Given the description of an element on the screen output the (x, y) to click on. 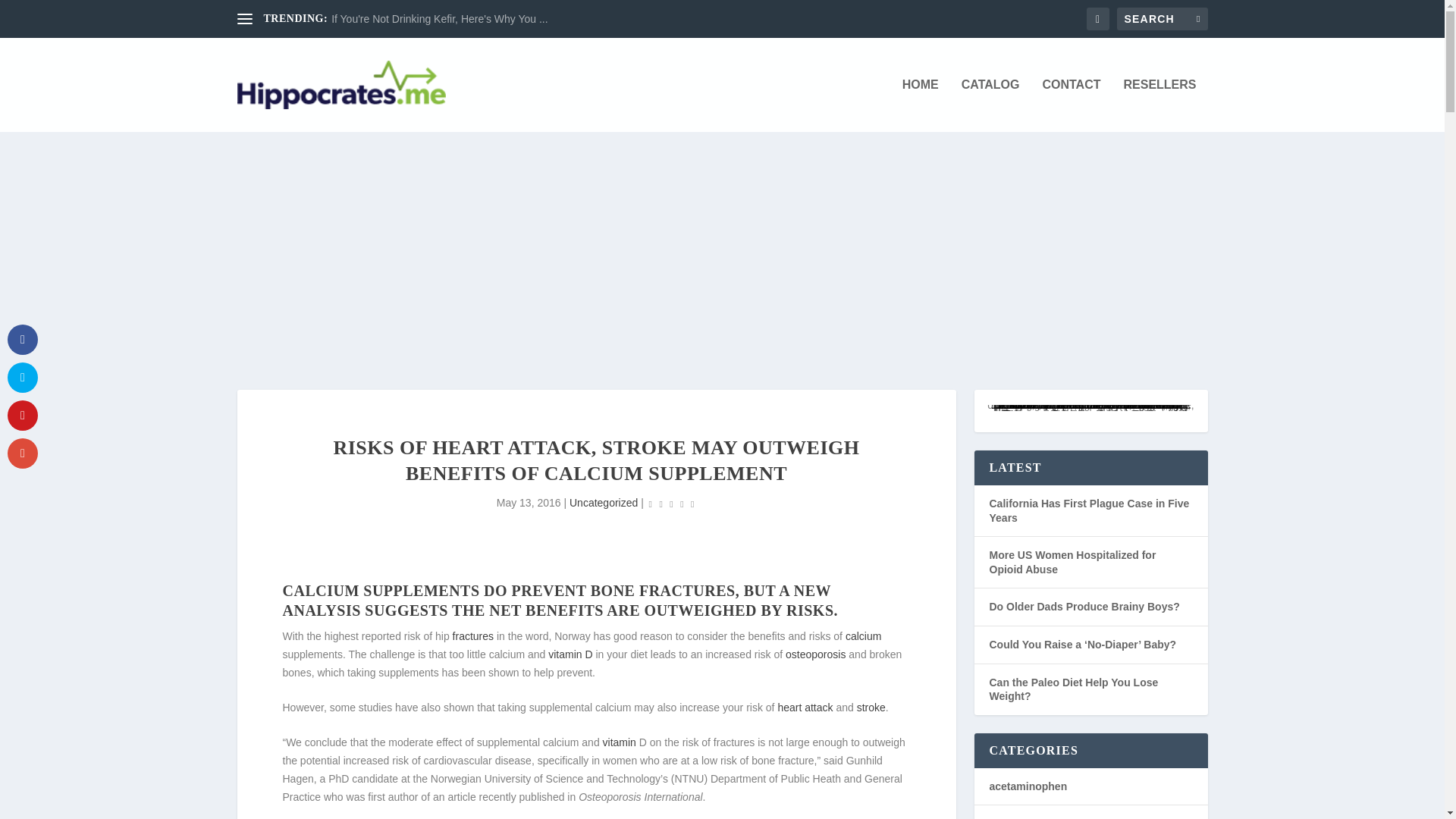
Search for: (1161, 18)
RESELLERS (1158, 104)
osteoporosis (815, 654)
fractures (472, 635)
What is osteoporosis? What causes osteoporosis? (815, 654)
calcium (862, 635)
Heart Attack: Symptoms, Diagnosis and Treatments (804, 707)
vitamin D (570, 654)
vitamin (619, 742)
Rating: 0.00 (671, 503)
